Given the description of an element on the screen output the (x, y) to click on. 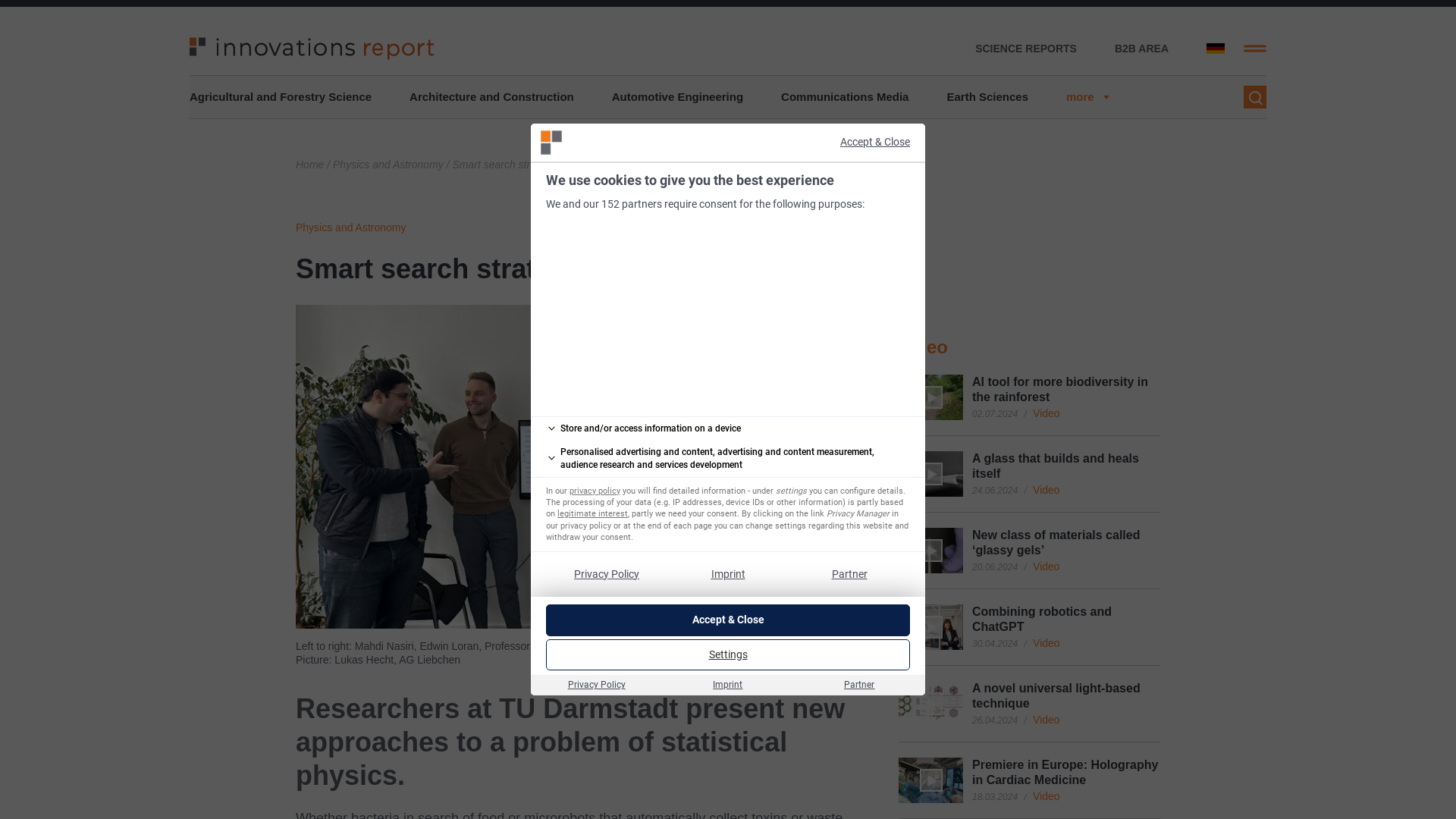
Architecture and Construction (491, 96)
Communications Media (844, 96)
Automotive Engineering (676, 96)
SCIENCE REPORTS (1026, 48)
Agricultural and Forestry Science (280, 96)
Earth Sciences (986, 96)
B2B AREA (1142, 48)
